Given the description of an element on the screen output the (x, y) to click on. 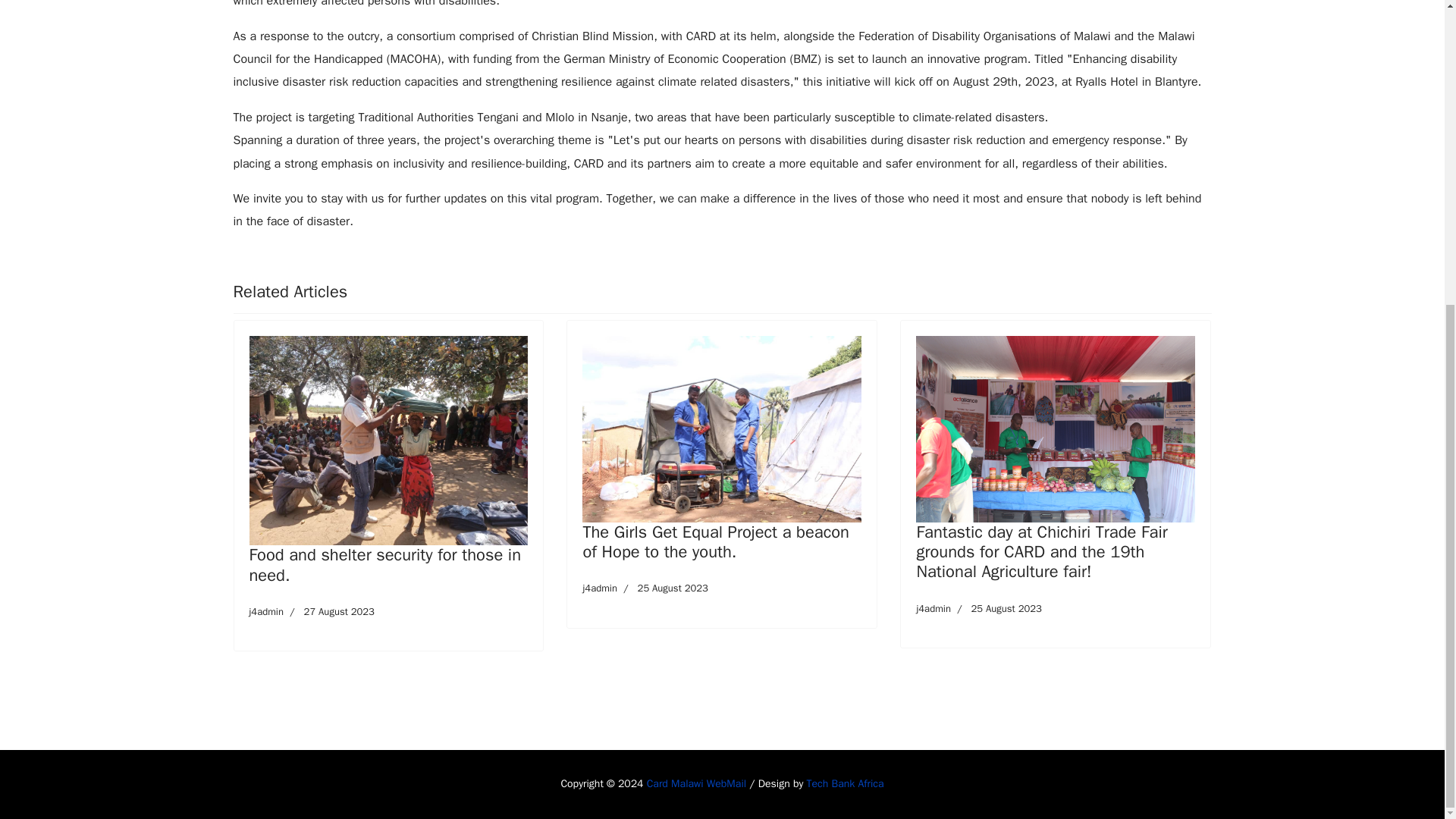
Published: 25 August 2023 (996, 608)
Written by: j4admin (255, 258)
Card Malawi WebMail (598, 588)
Published: 27 August 2023 (695, 783)
Tech Bank Africa (328, 611)
The Girls Get Equal Project a beacon of Hope to the youth. (844, 783)
Published: 25 August 2023 (715, 541)
